Given the description of an element on the screen output the (x, y) to click on. 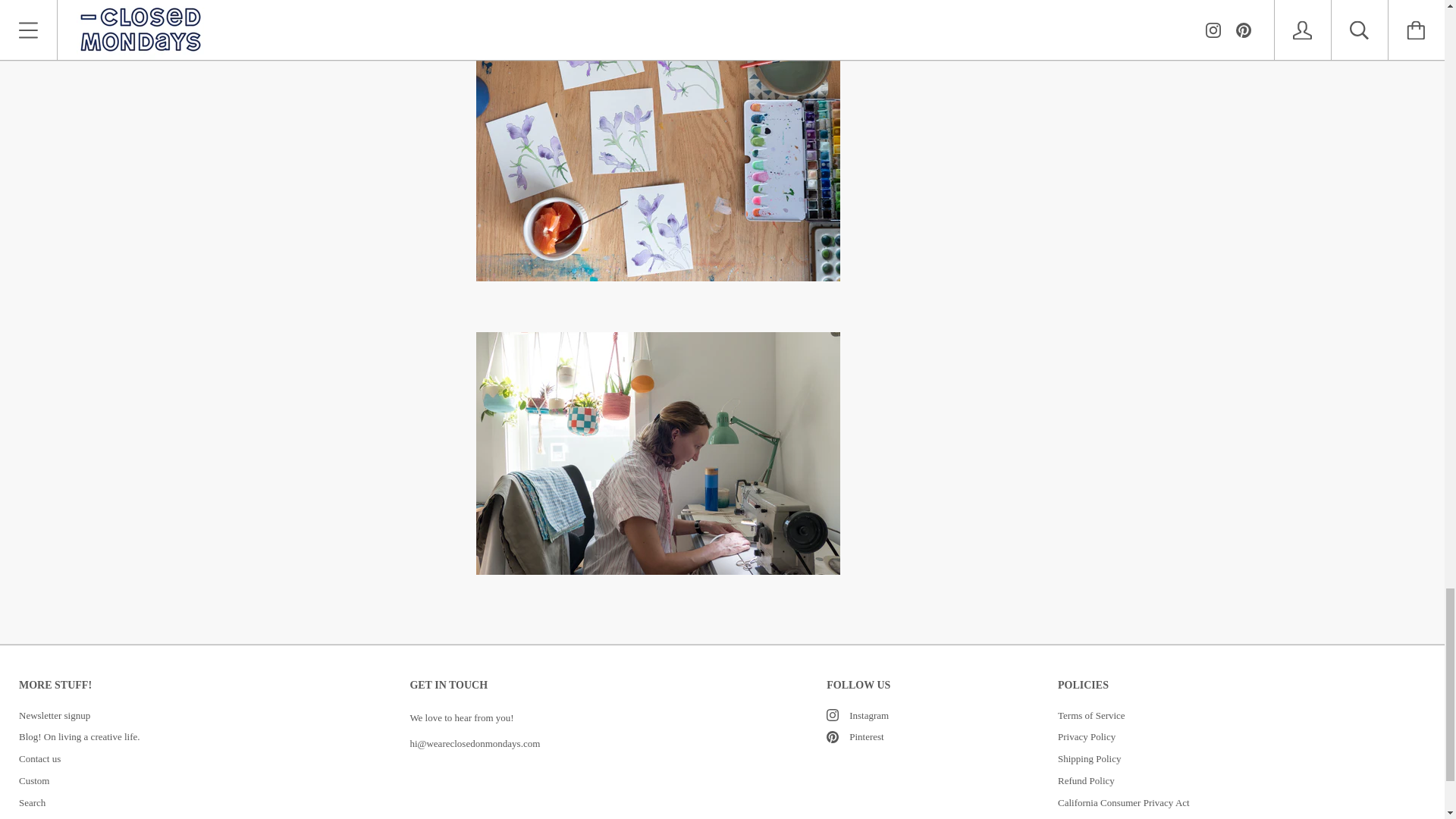
Pinterest (832, 736)
Newsletter signup (54, 715)
Instagram (832, 715)
